Given the description of an element on the screen output the (x, y) to click on. 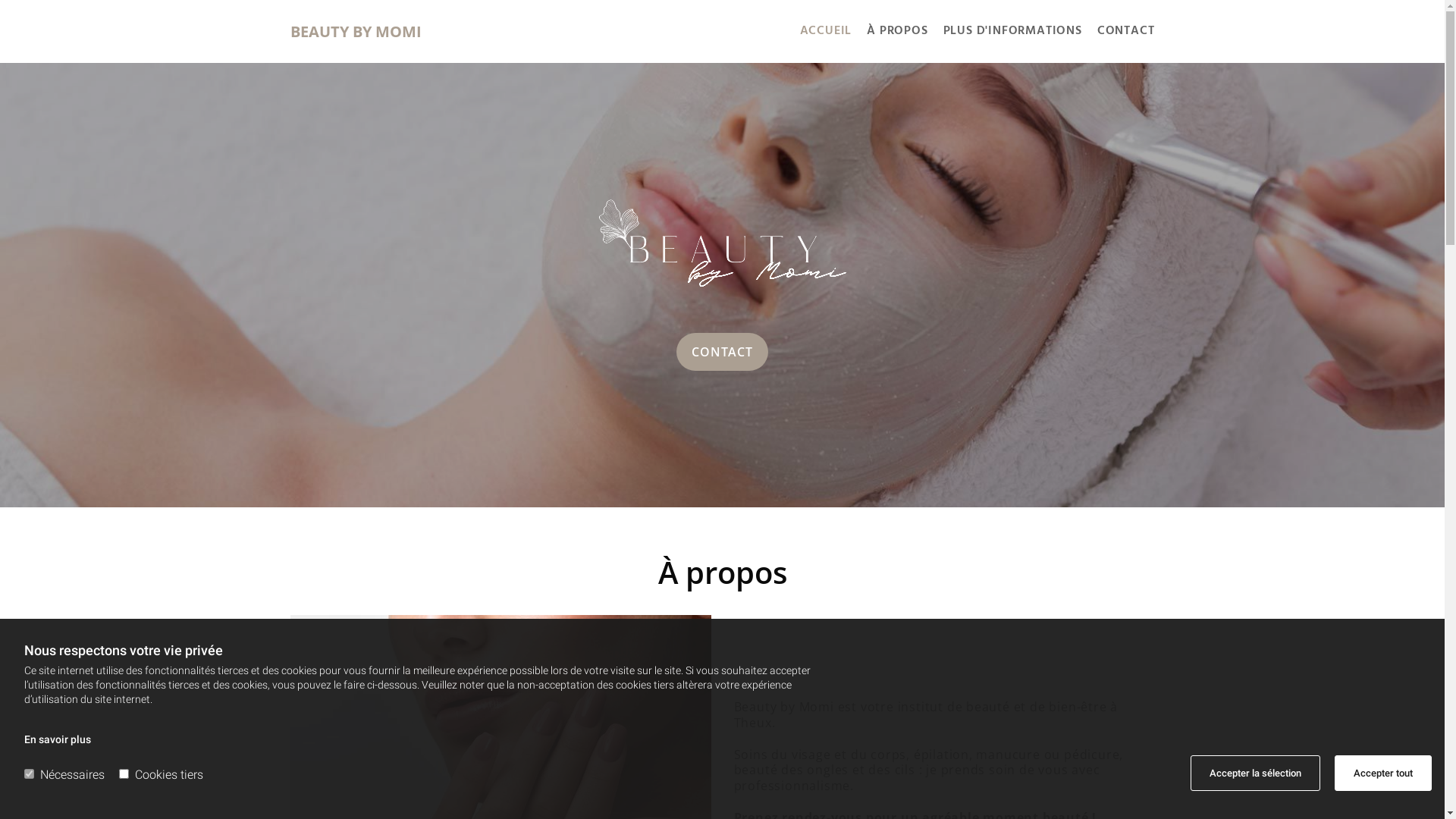
CONTACT Element type: text (1118, 31)
CONTACT Element type: text (722, 351)
PLUS D'INFORMATIONS Element type: text (1005, 31)
Accepter tout Element type: text (1382, 772)
ACCUEIL Element type: text (818, 31)
En savoir plus Element type: text (57, 739)
